Given the description of an element on the screen output the (x, y) to click on. 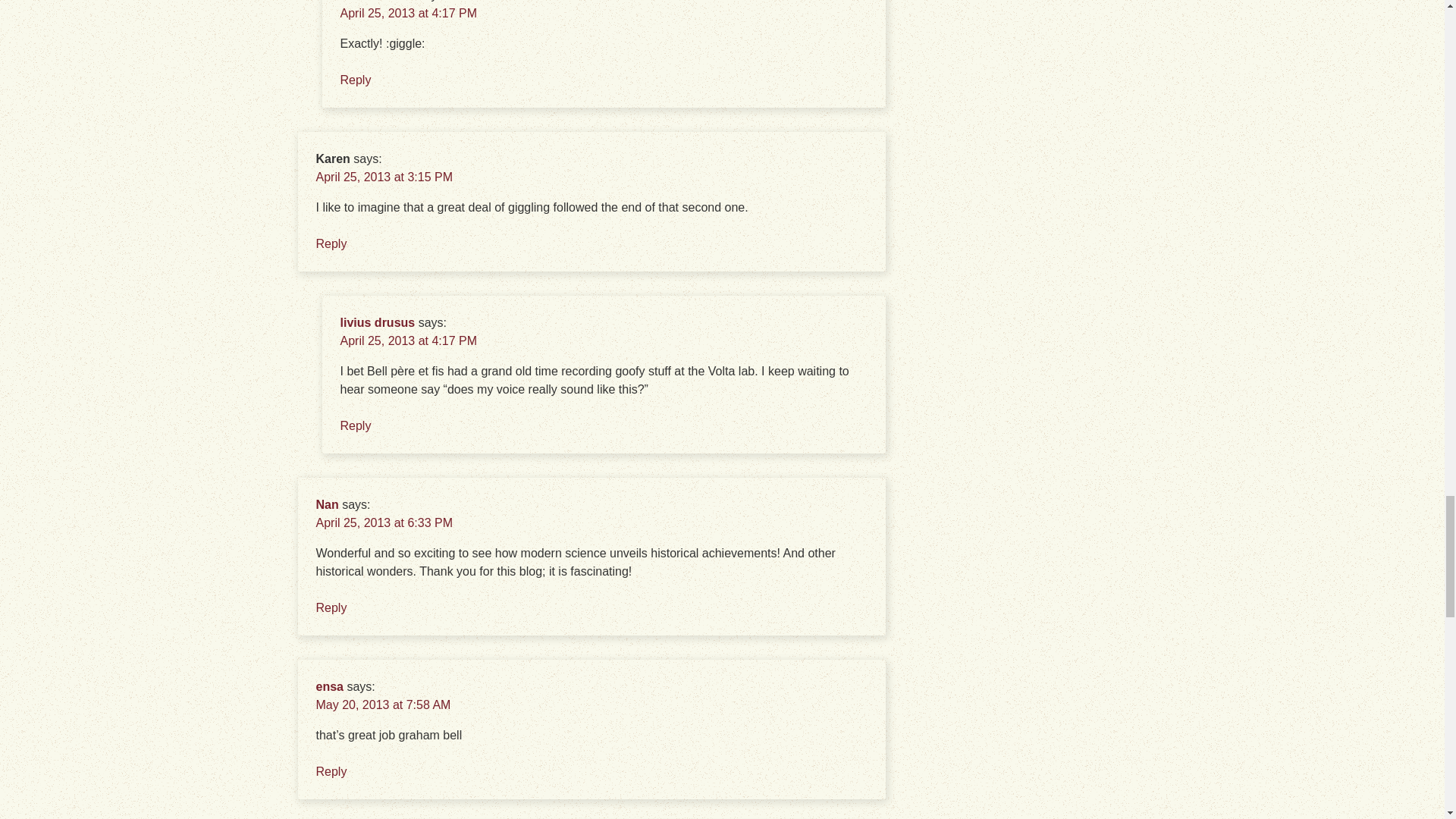
livius drusus (376, 322)
Reply (330, 243)
Nan (326, 504)
April 25, 2013 at 6:33 PM (383, 522)
April 25, 2013 at 4:17 PM (408, 340)
livius drusus (376, 0)
April 25, 2013 at 4:17 PM (408, 12)
April 25, 2013 at 3:15 PM (383, 176)
Reply (355, 79)
Reply (355, 425)
